Given the description of an element on the screen output the (x, y) to click on. 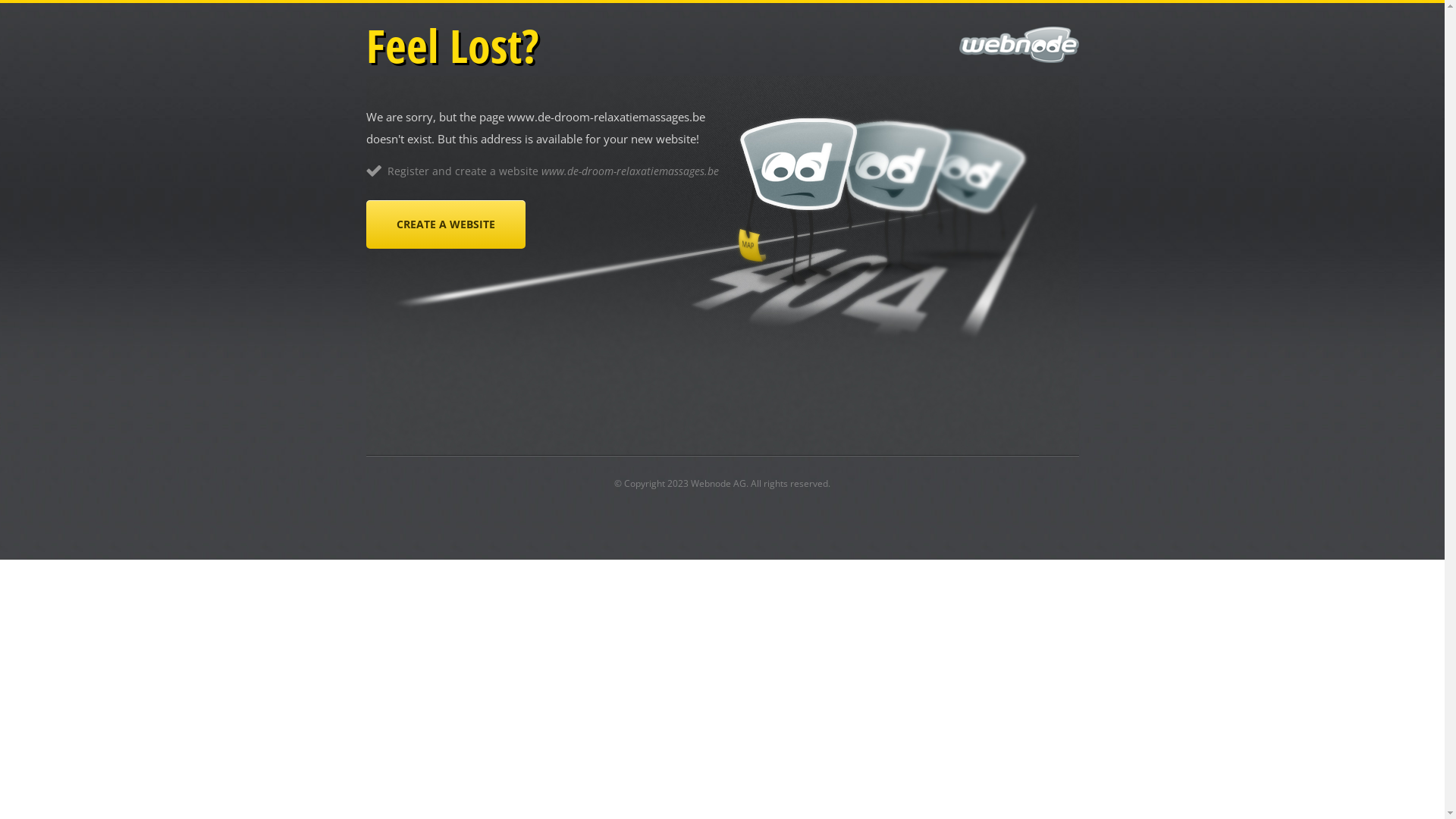
Webnode AG Element type: text (718, 482)
CREATE A WEBSITE Element type: text (444, 224)
